Given the description of an element on the screen output the (x, y) to click on. 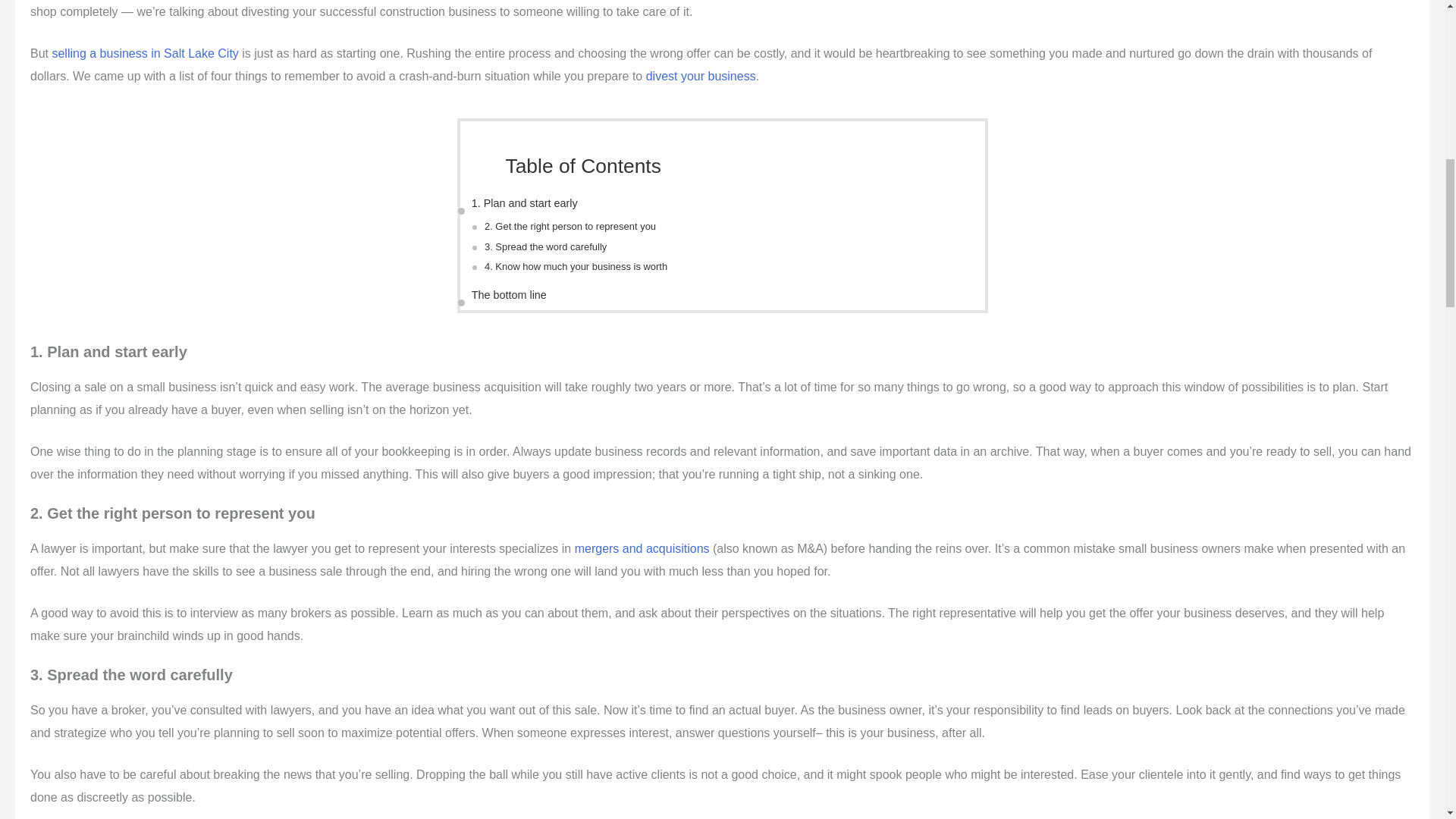
divest your business (700, 75)
2. Get the right person to represent you (570, 226)
3. Spread the word carefully (545, 246)
4. Know how much your business is worth (575, 266)
mergers and acquisitions (642, 548)
The bottom line (509, 294)
1. Plan and start early (524, 202)
selling a business in Salt Lake City (144, 52)
